Given the description of an element on the screen output the (x, y) to click on. 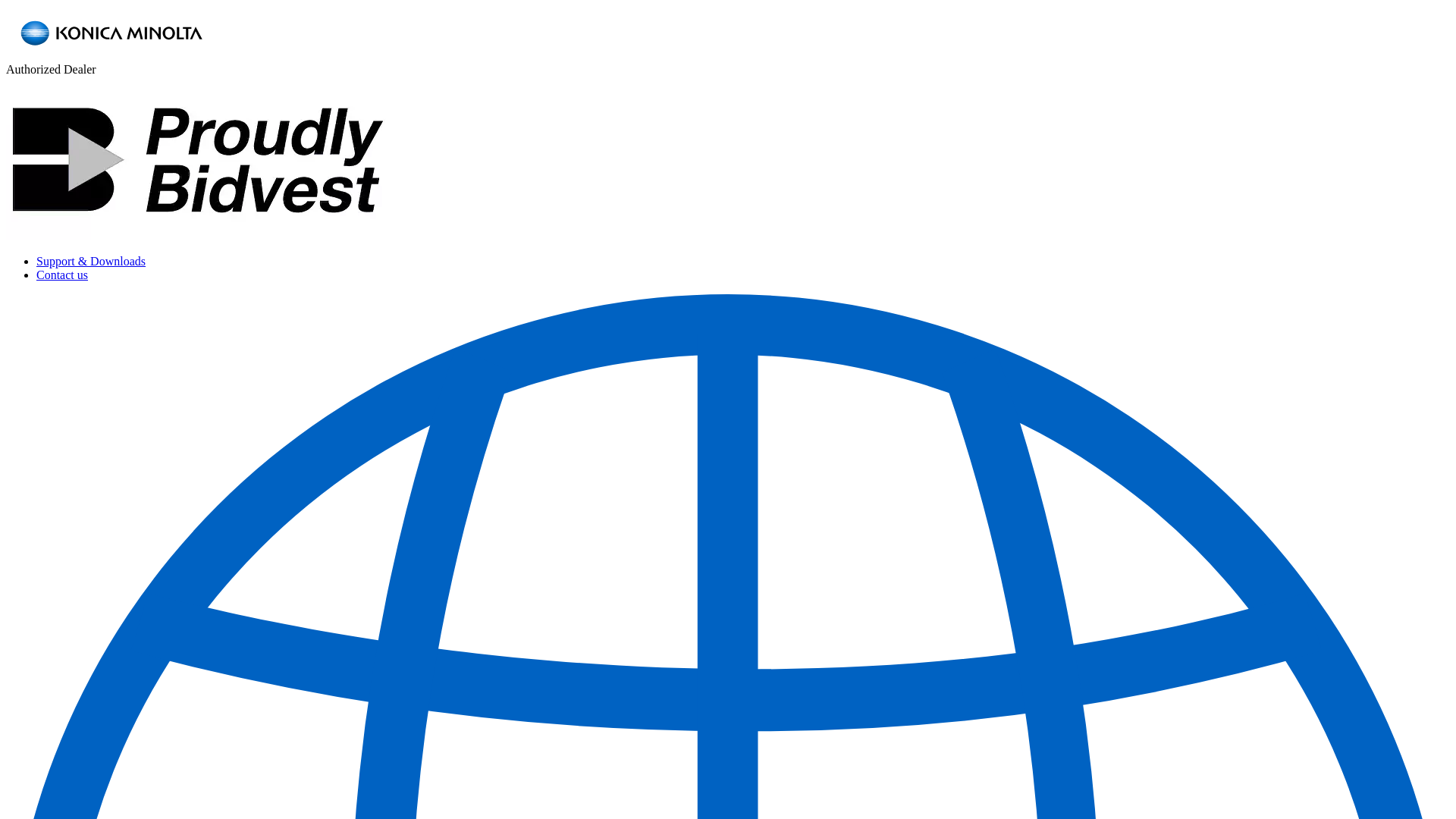
Contact us (61, 274)
Contact us (61, 274)
